Given the description of an element on the screen output the (x, y) to click on. 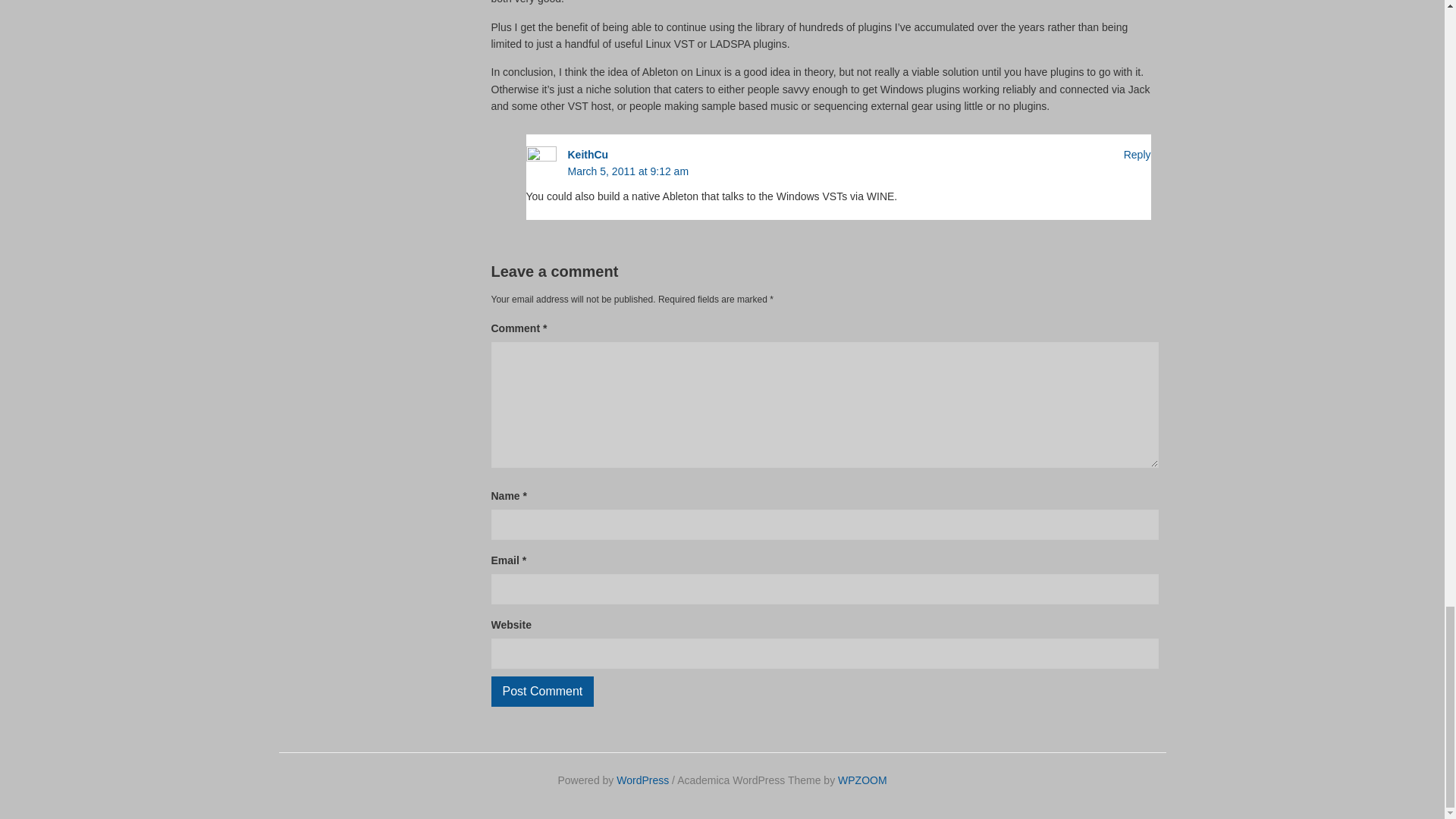
Post Comment (543, 691)
